Given the description of an element on the screen output the (x, y) to click on. 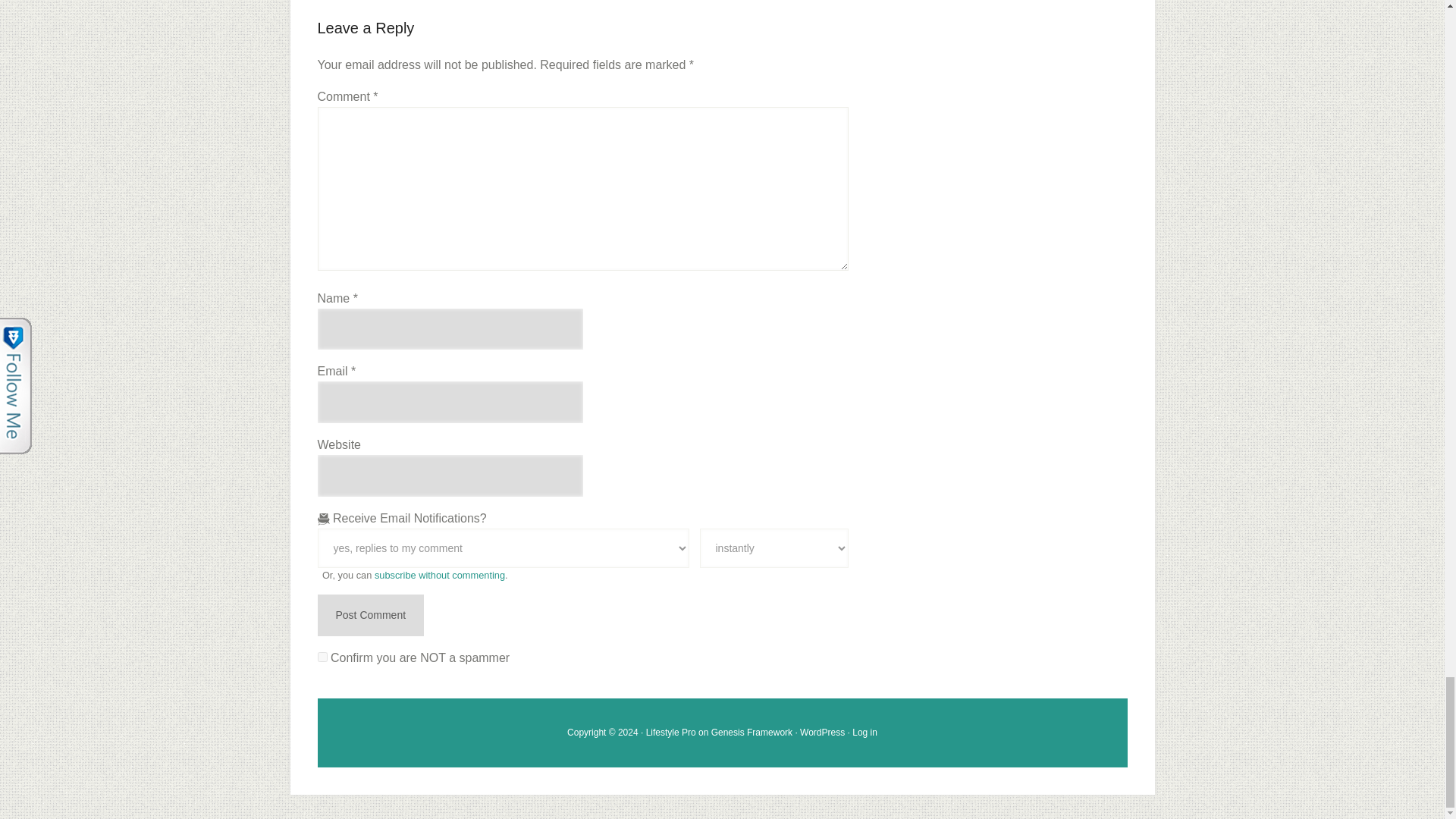
on (321, 656)
Post Comment (370, 615)
Receive Notifications? (502, 548)
Notify Me (772, 548)
